Given the description of an element on the screen output the (x, y) to click on. 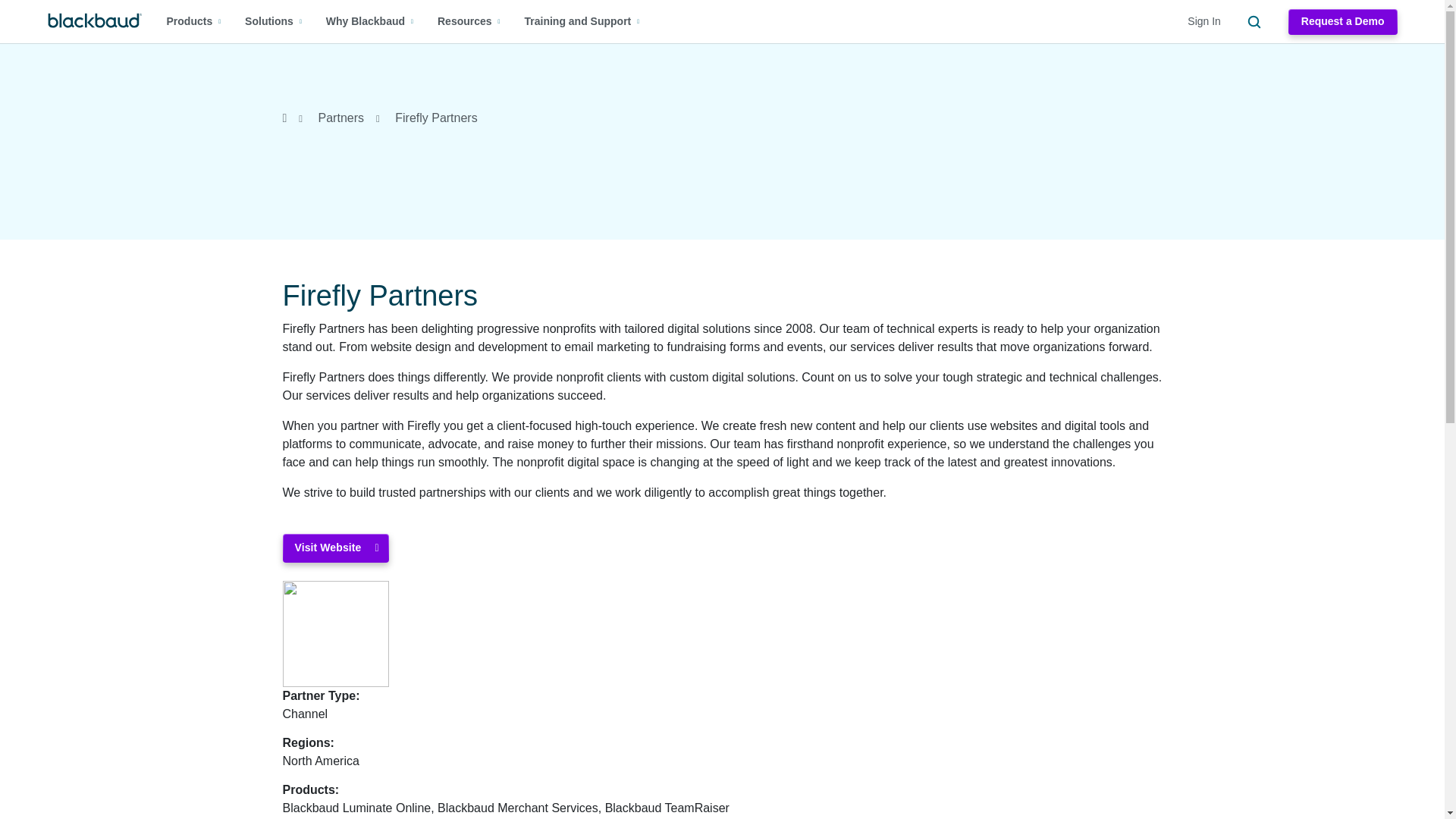
Why Blackbaud (369, 21)
Solutions (272, 21)
Products (194, 21)
